Given the description of an element on the screen output the (x, y) to click on. 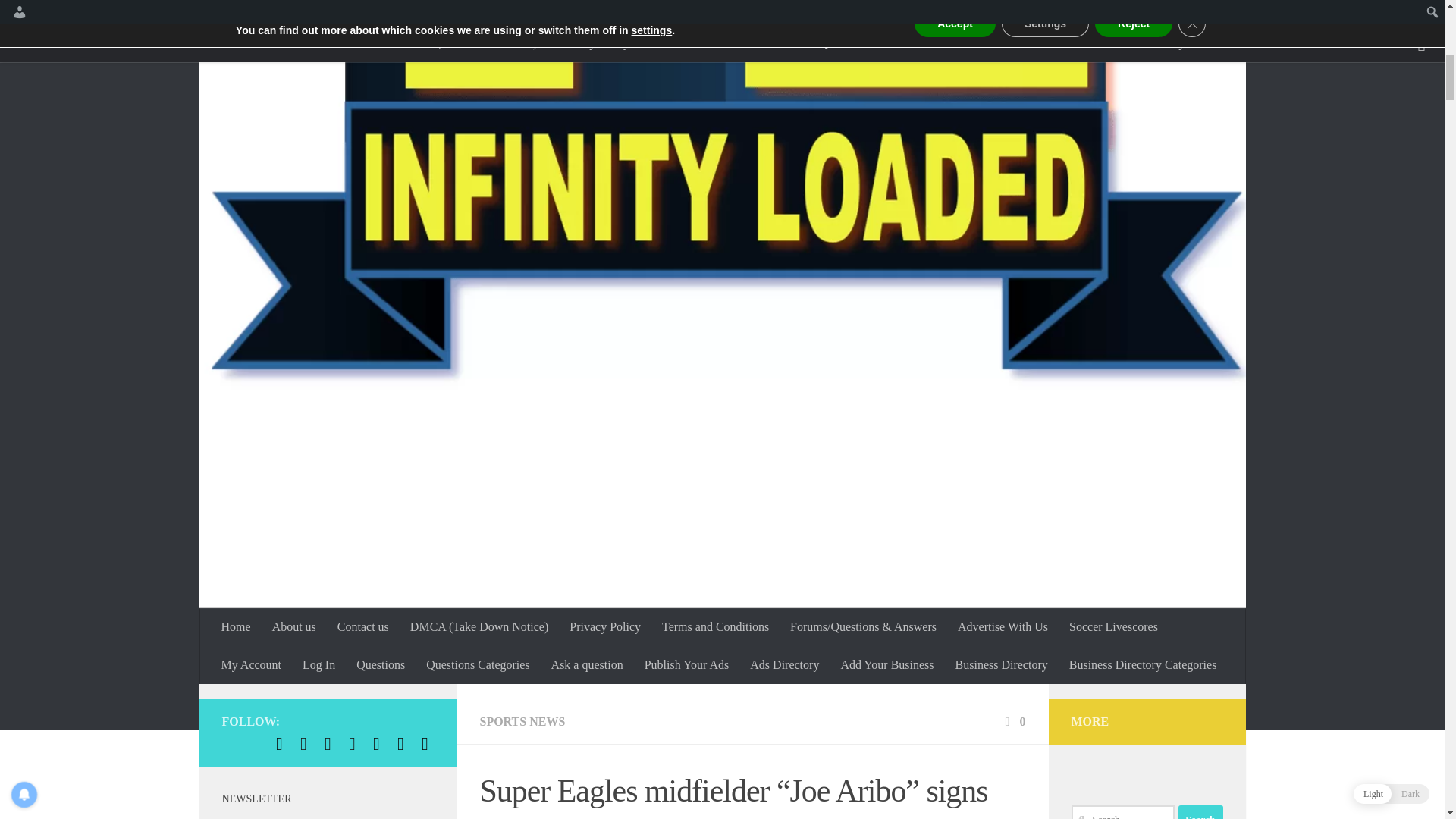
My Account (251, 664)
Questions (380, 664)
Search (1200, 812)
Questions Categories (477, 664)
Terms and Conditions (714, 627)
Advertise With Us (1002, 627)
Soccer Livescores (1113, 627)
About us (294, 627)
Contact us (362, 627)
Log In (319, 664)
Home (236, 627)
Search (1200, 812)
Privacy Policy (604, 627)
